Given the description of an element on the screen output the (x, y) to click on. 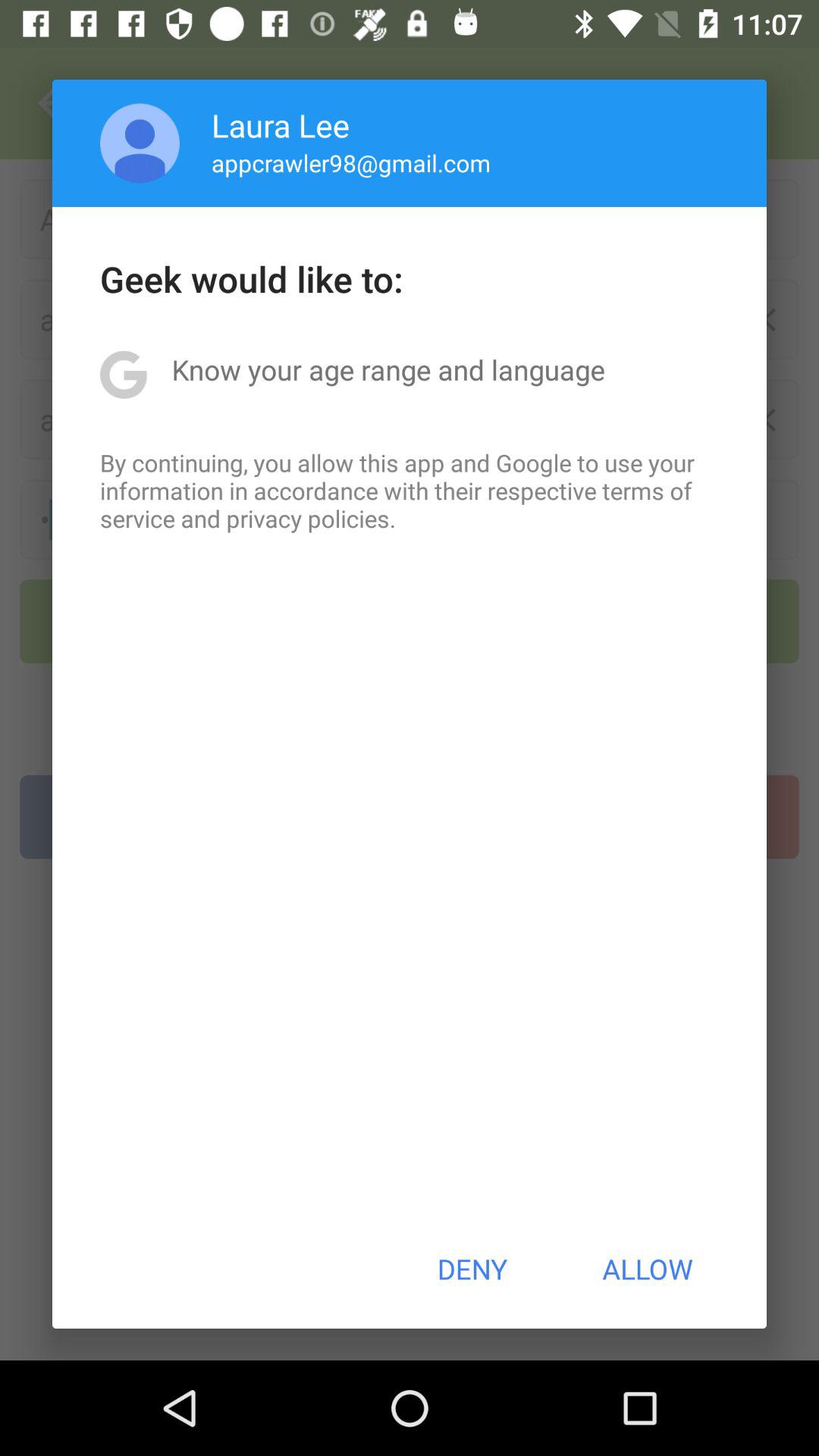
choose deny icon (471, 1268)
